Given the description of an element on the screen output the (x, y) to click on. 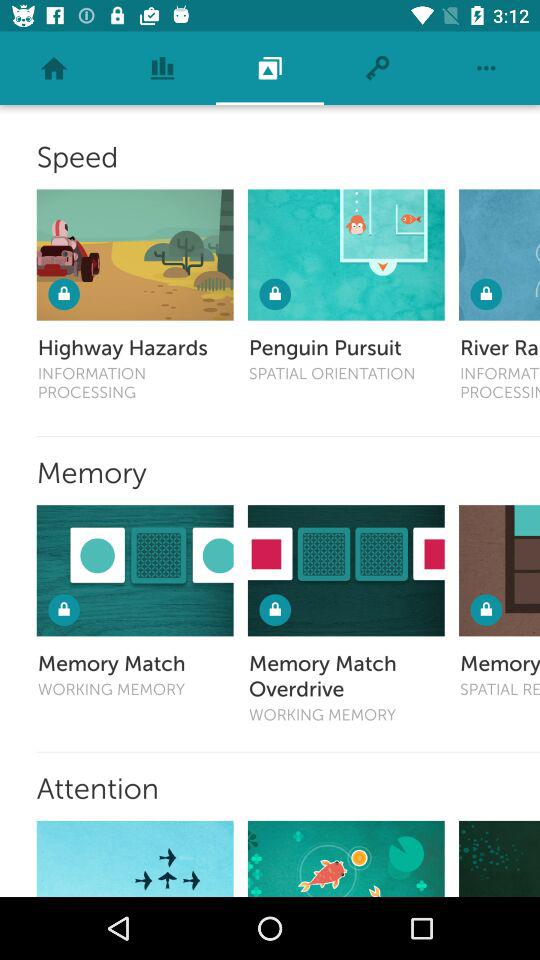
play penguin pursuit (345, 254)
